Given the description of an element on the screen output the (x, y) to click on. 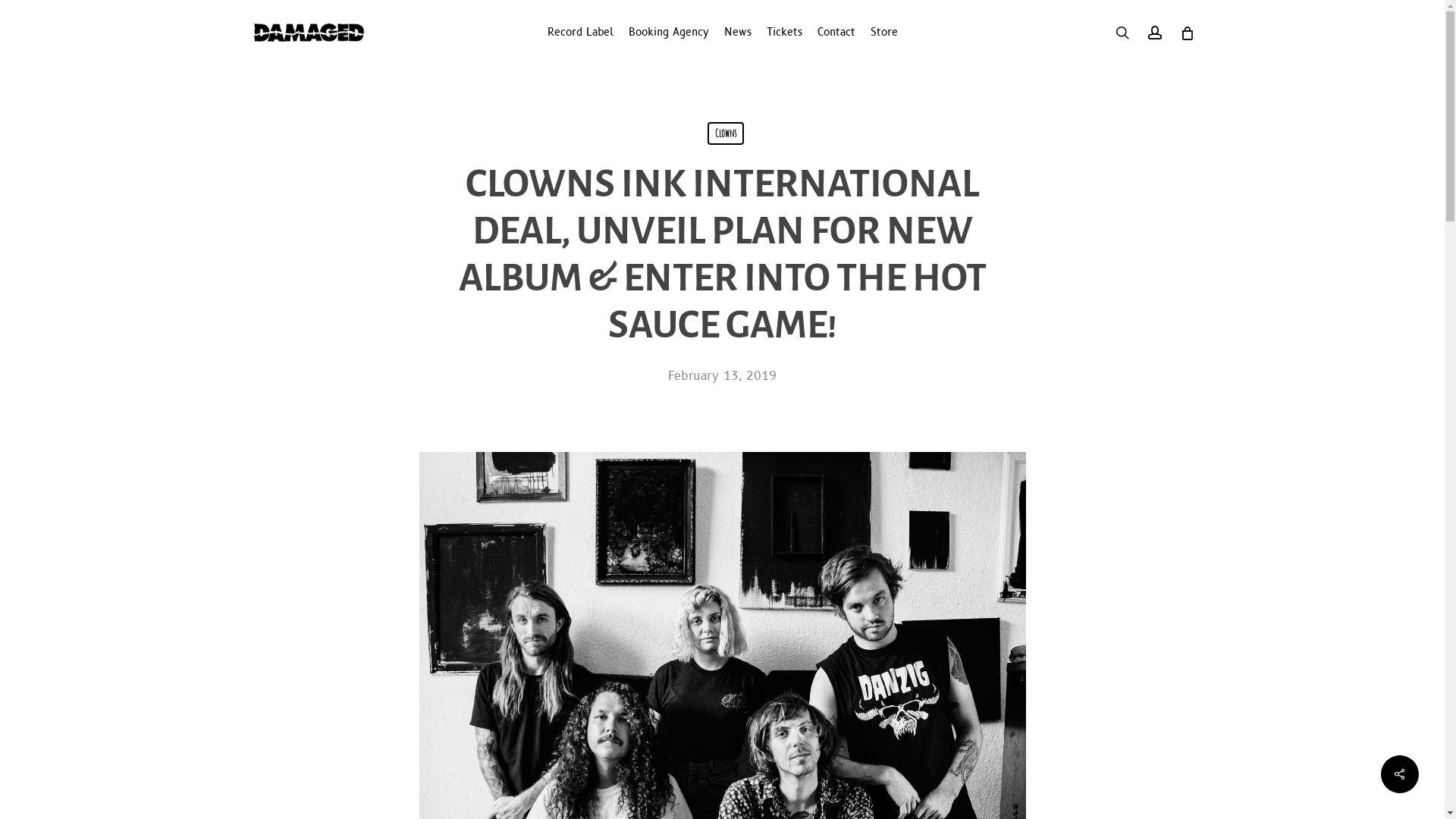
Clowns Element type: text (725, 133)
Booking Agency Element type: text (667, 32)
Contact Element type: text (836, 32)
Store Element type: text (883, 32)
account Element type: text (1154, 32)
Record Label Element type: text (580, 32)
Tickets Element type: text (783, 32)
search Element type: text (1122, 32)
News Element type: text (736, 32)
